Given the description of an element on the screen output the (x, y) to click on. 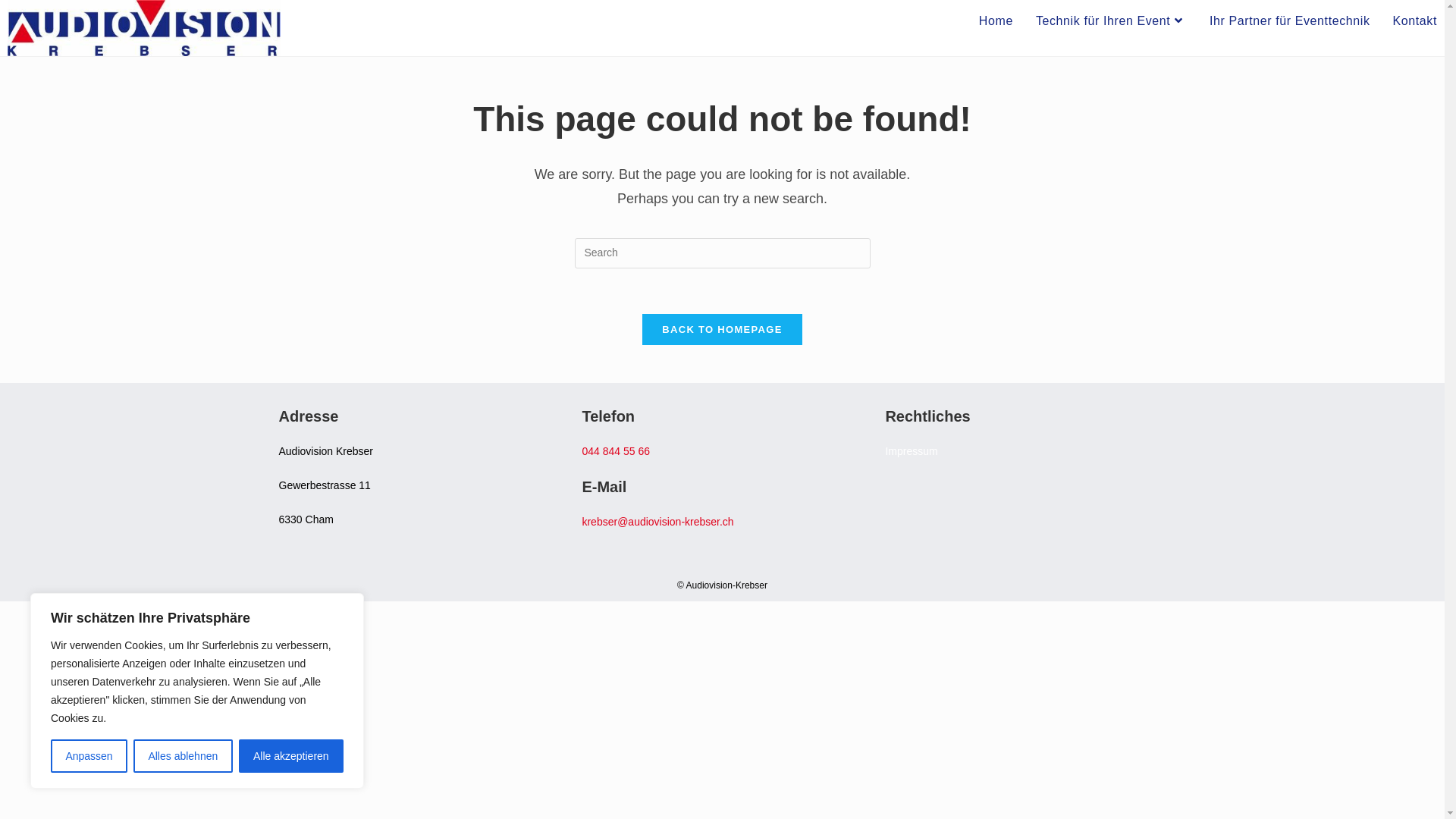
Home Element type: text (995, 20)
Anpassen Element type: text (88, 755)
Alle akzeptieren Element type: text (290, 755)
BACK TO HOMEPAGE Element type: text (721, 329)
Kontakt Element type: text (1414, 20)
Alles ablehnen Element type: text (182, 755)
Impressum Element type: text (910, 451)
